Given the description of an element on the screen output the (x, y) to click on. 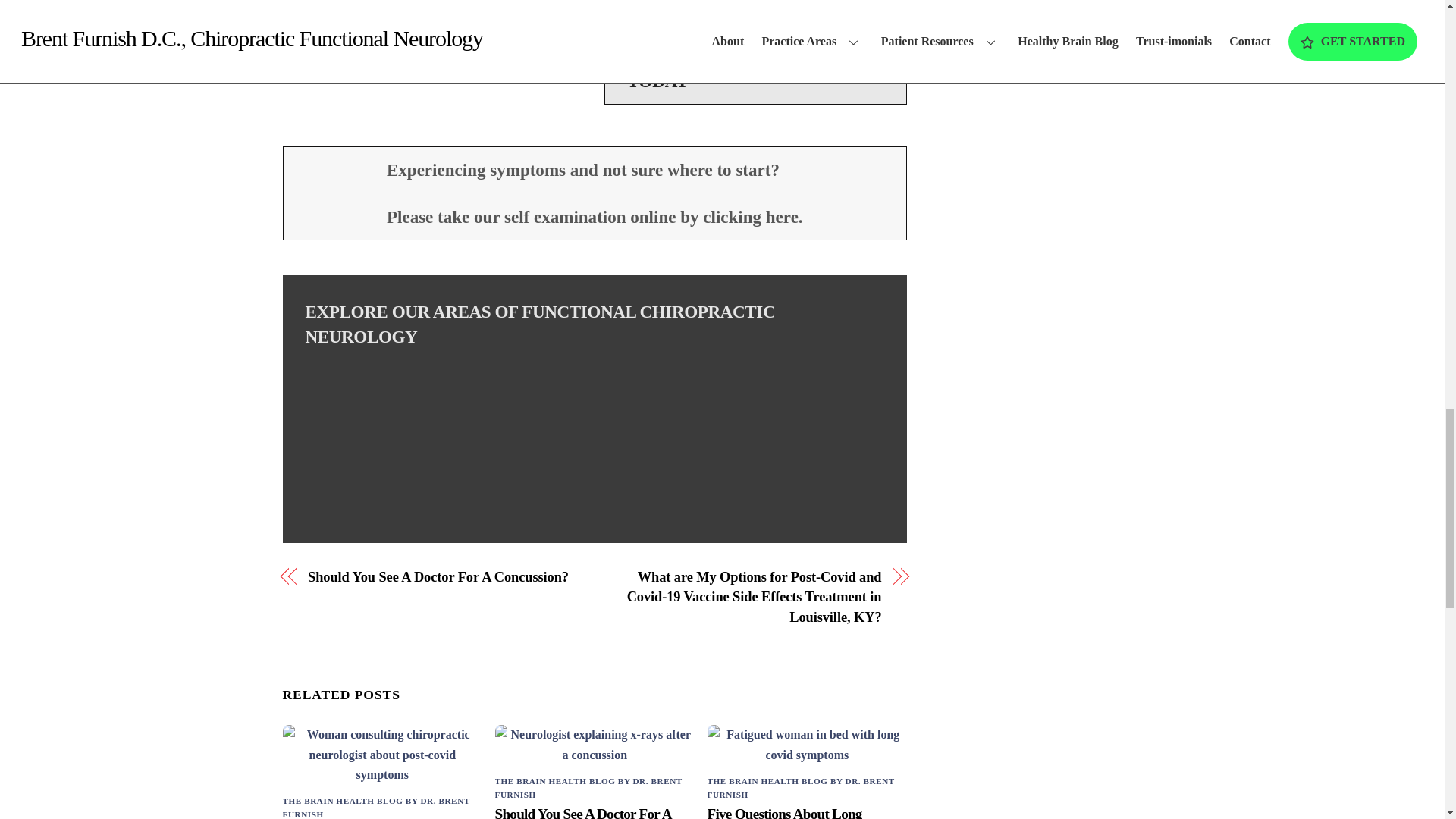
SCHEDULE A CONSULTATION TODAY (755, 69)
Should You See A Doctor For A Concussion? (441, 577)
brent furnish (755, 9)
